Given the description of an element on the screen output the (x, y) to click on. 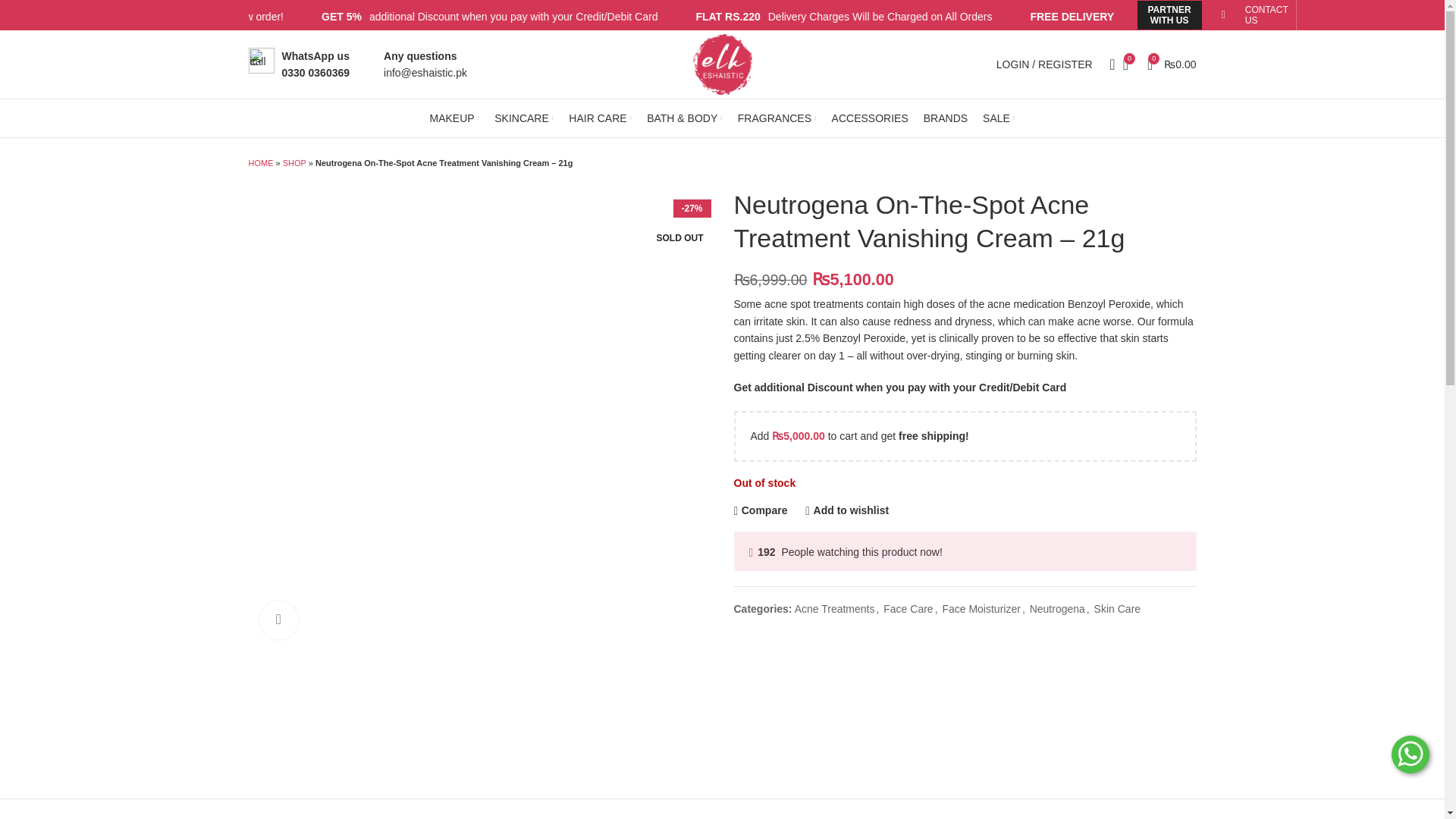
Shopping cart (1172, 64)
MAKEUP (454, 118)
My account (1044, 64)
SKINCARE (524, 118)
PARTNER WITH US (1169, 15)
HAIR CARE (600, 118)
ic-call (261, 60)
CONTACT US (1266, 15)
FRAGRANCES (777, 118)
